Given the description of an element on the screen output the (x, y) to click on. 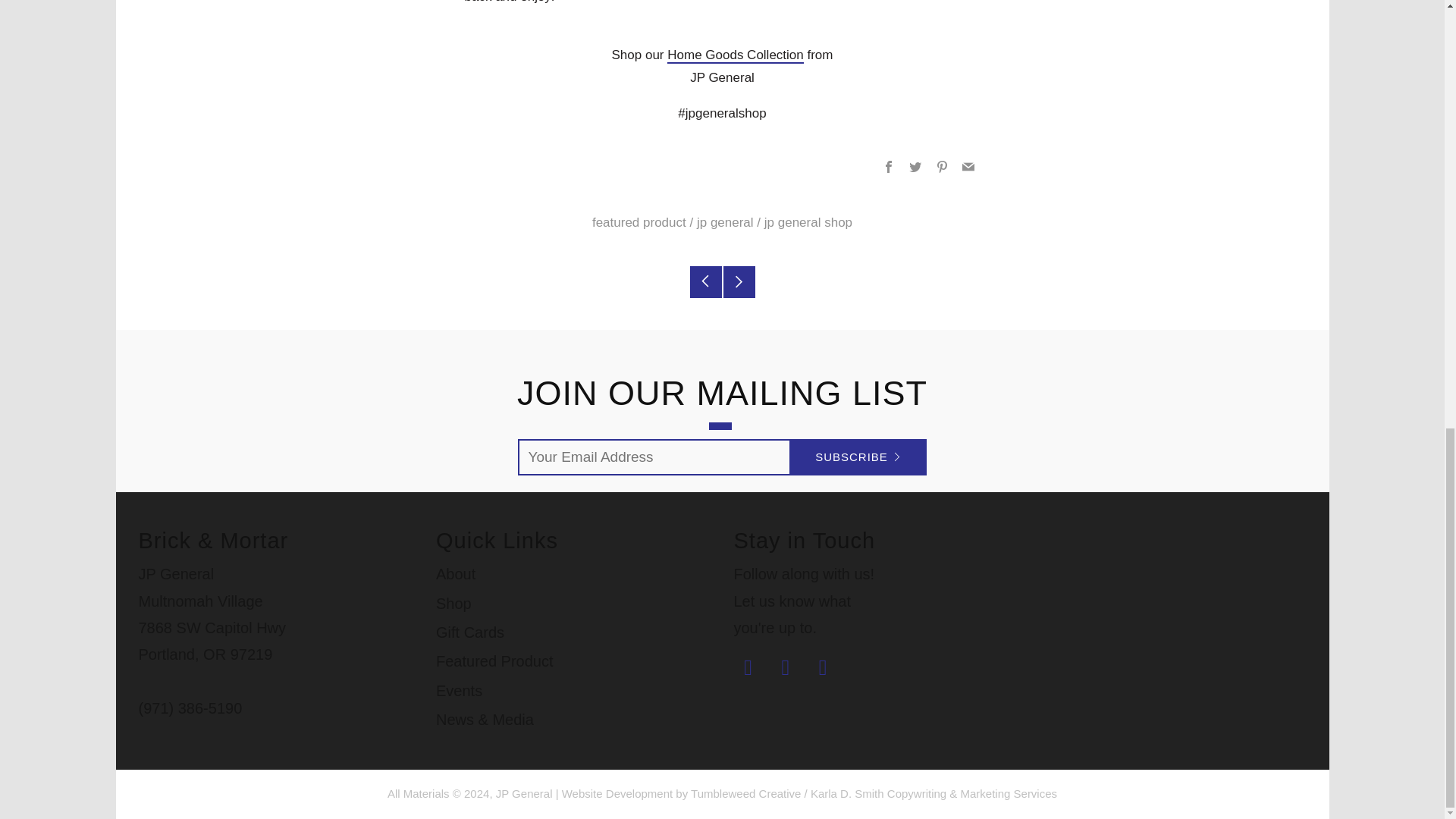
Show articles tagged jp general (725, 222)
Show articles tagged featured product (638, 222)
Show articles tagged jp general shop (807, 222)
Home Goods Collection (734, 55)
